Given the description of an element on the screen output the (x, y) to click on. 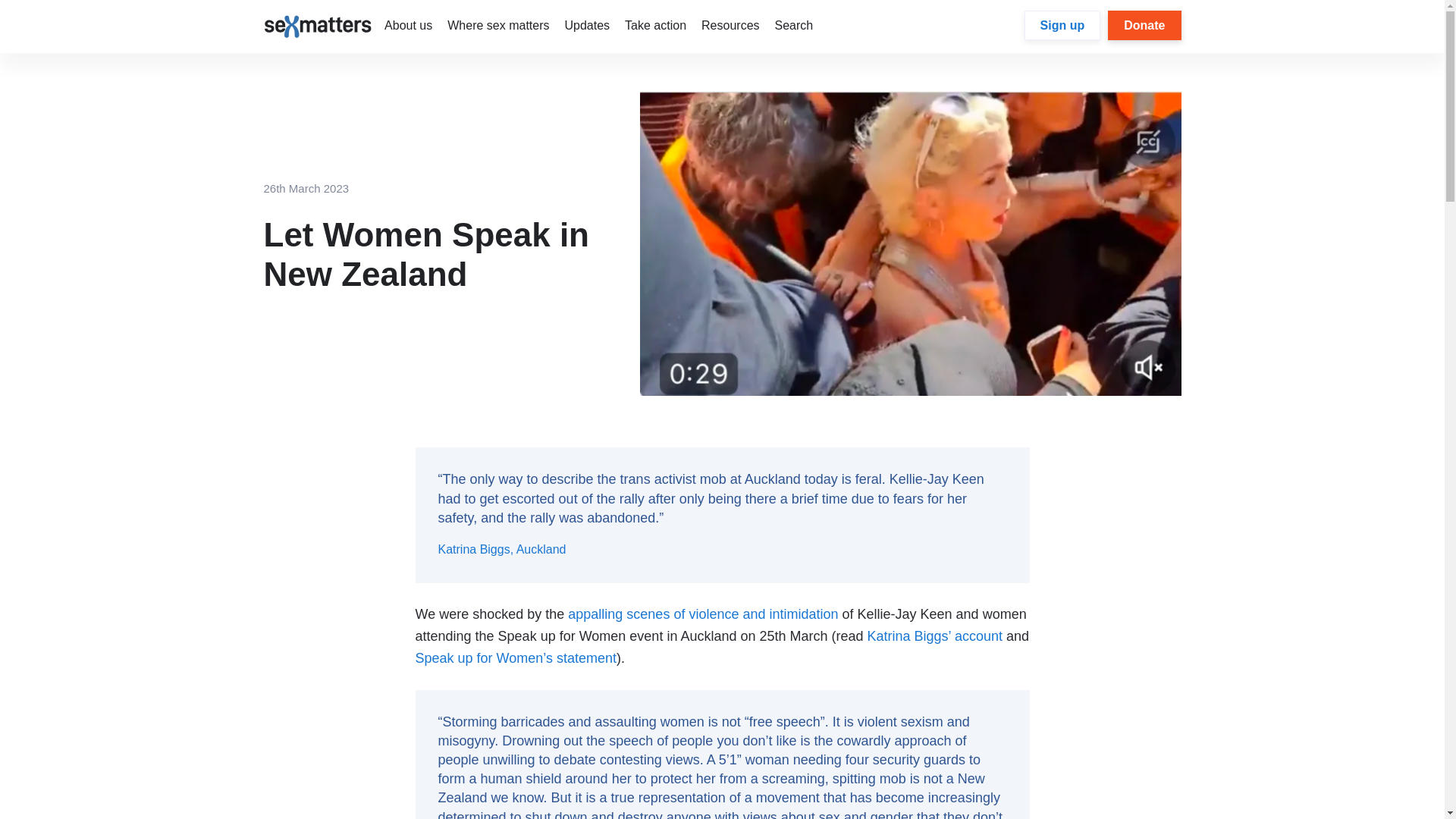
Updates (587, 24)
Search (793, 24)
Take action (654, 24)
Donate (1144, 25)
Sign up (1062, 25)
Where sex matters (497, 24)
Resources (729, 24)
About us (408, 24)
